Given the description of an element on the screen output the (x, y) to click on. 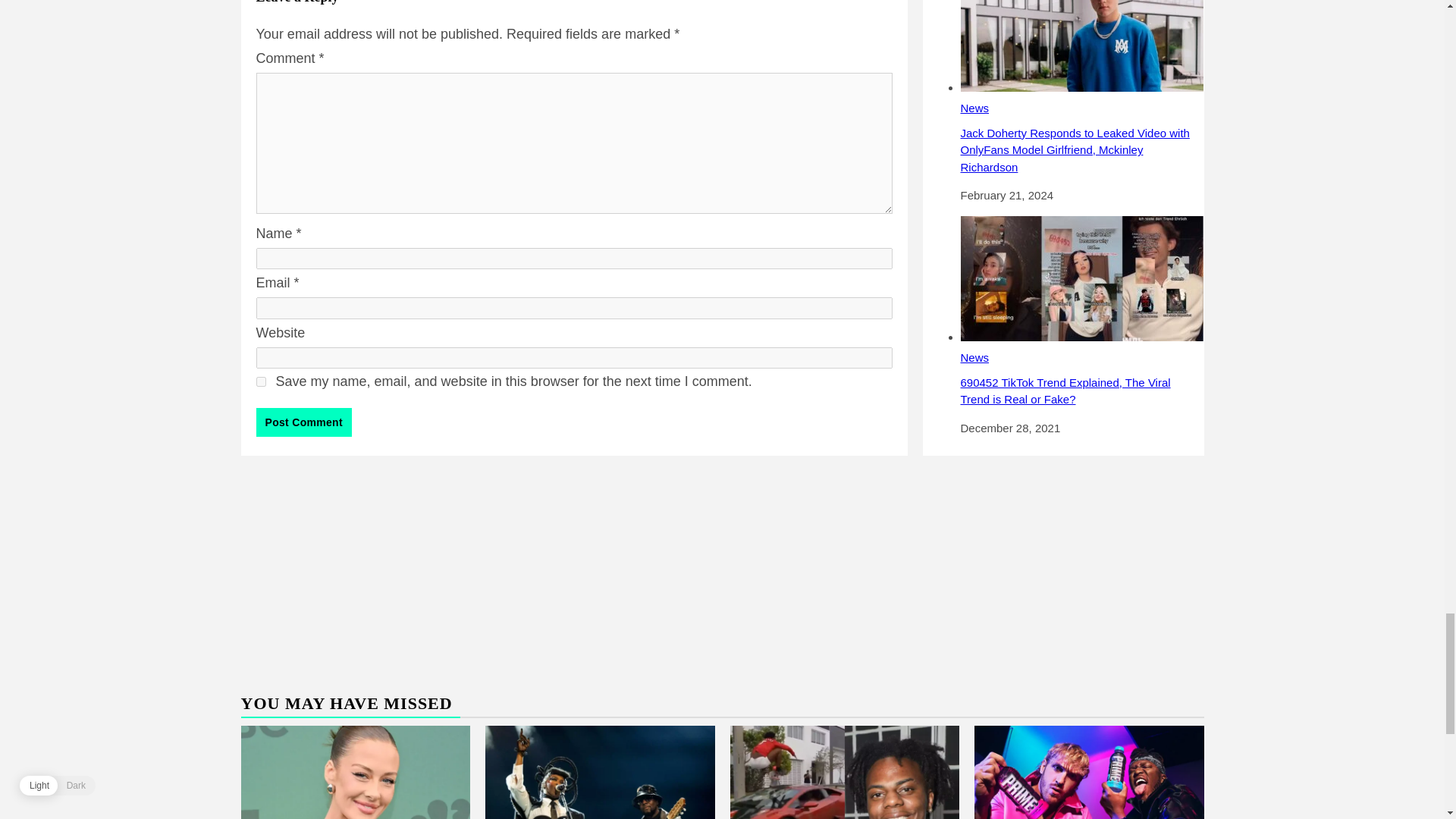
Post Comment (304, 421)
yes (261, 381)
